Given the description of an element on the screen output the (x, y) to click on. 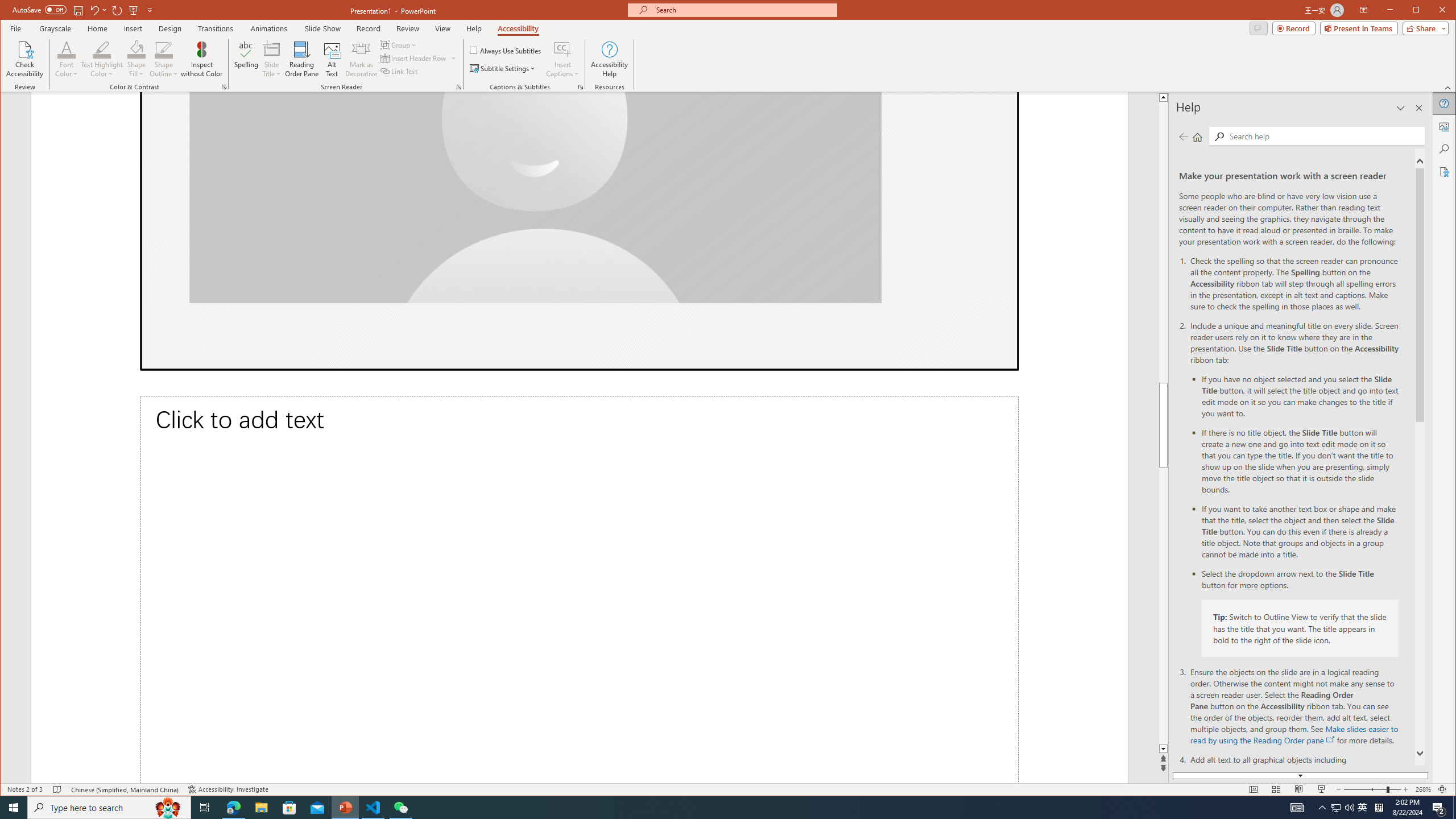
Mark as Decorative (360, 59)
Zoom 268% (1422, 789)
Subtitle Settings (502, 68)
